Given the description of an element on the screen output the (x, y) to click on. 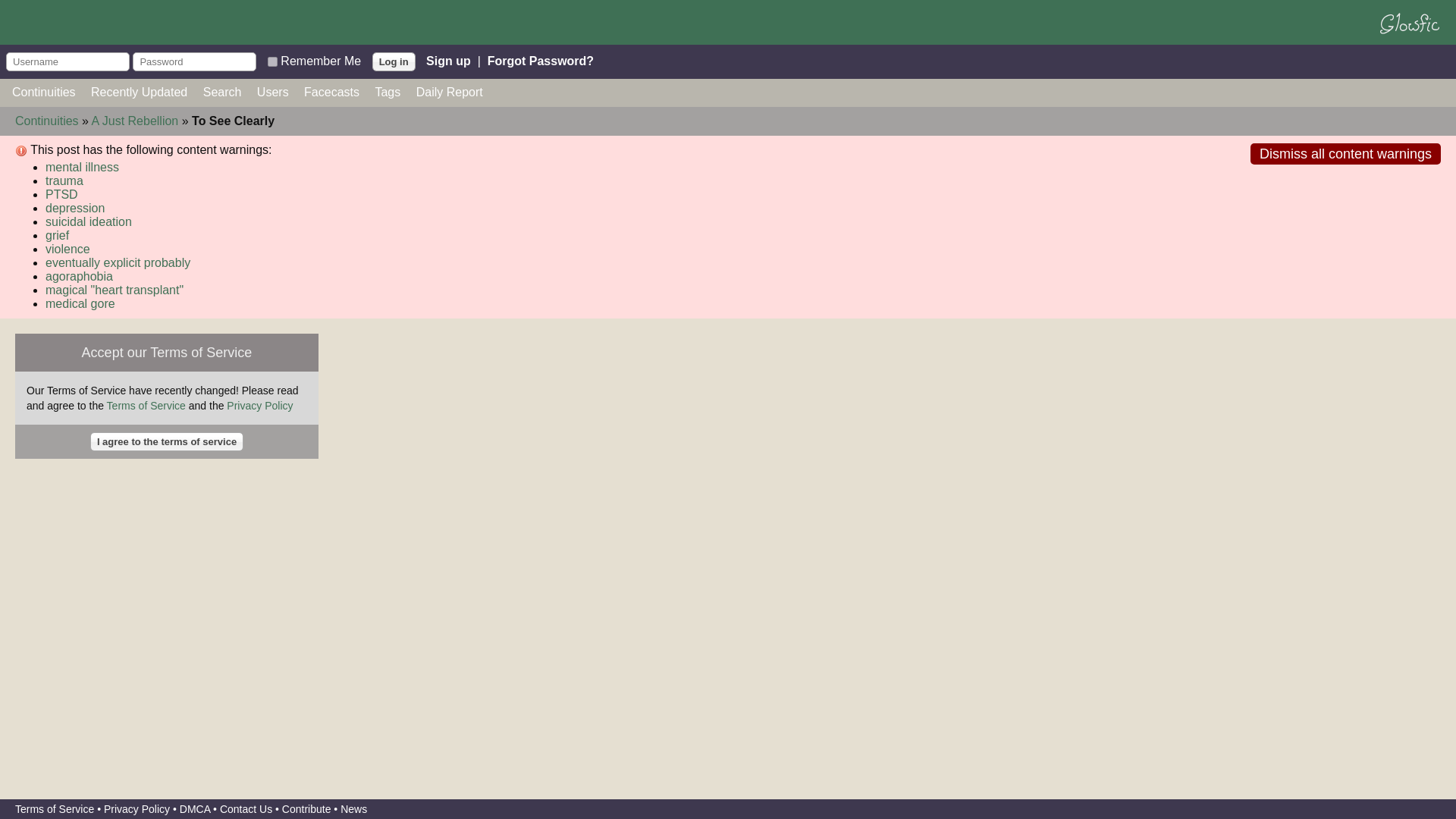
depression (74, 207)
Daily Report (449, 91)
Terms of Service (146, 405)
Forgot Password? (540, 60)
trauma (63, 180)
agoraphobia (79, 276)
Sign up (448, 60)
Log in (393, 61)
Search (222, 91)
Facecasts (331, 91)
